Given the description of an element on the screen output the (x, y) to click on. 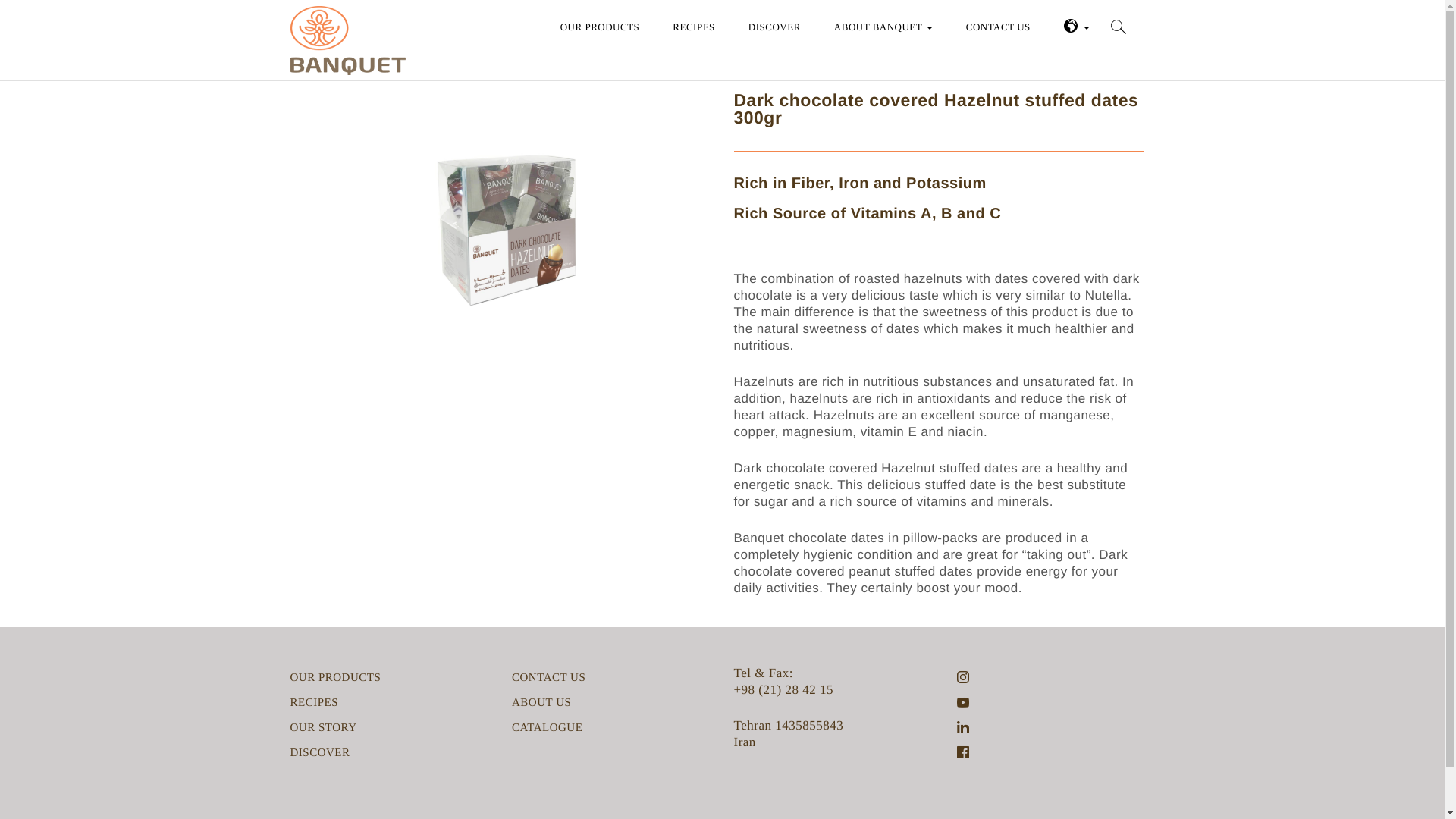
Search (44, 20)
CONTACT US (548, 677)
ABOUT BANQUET (883, 25)
English (1076, 25)
OUR PRODUCTS (600, 25)
CONTACT US (998, 25)
RECIPES (313, 702)
DISCOVER (774, 25)
DISCOVER (319, 752)
ABOUT US (541, 702)
OUR PRODUCTS (334, 677)
RECIPES (693, 25)
RECIPES (693, 25)
CONTACT US (998, 25)
CATALOGUE (547, 727)
